Given the description of an element on the screen output the (x, y) to click on. 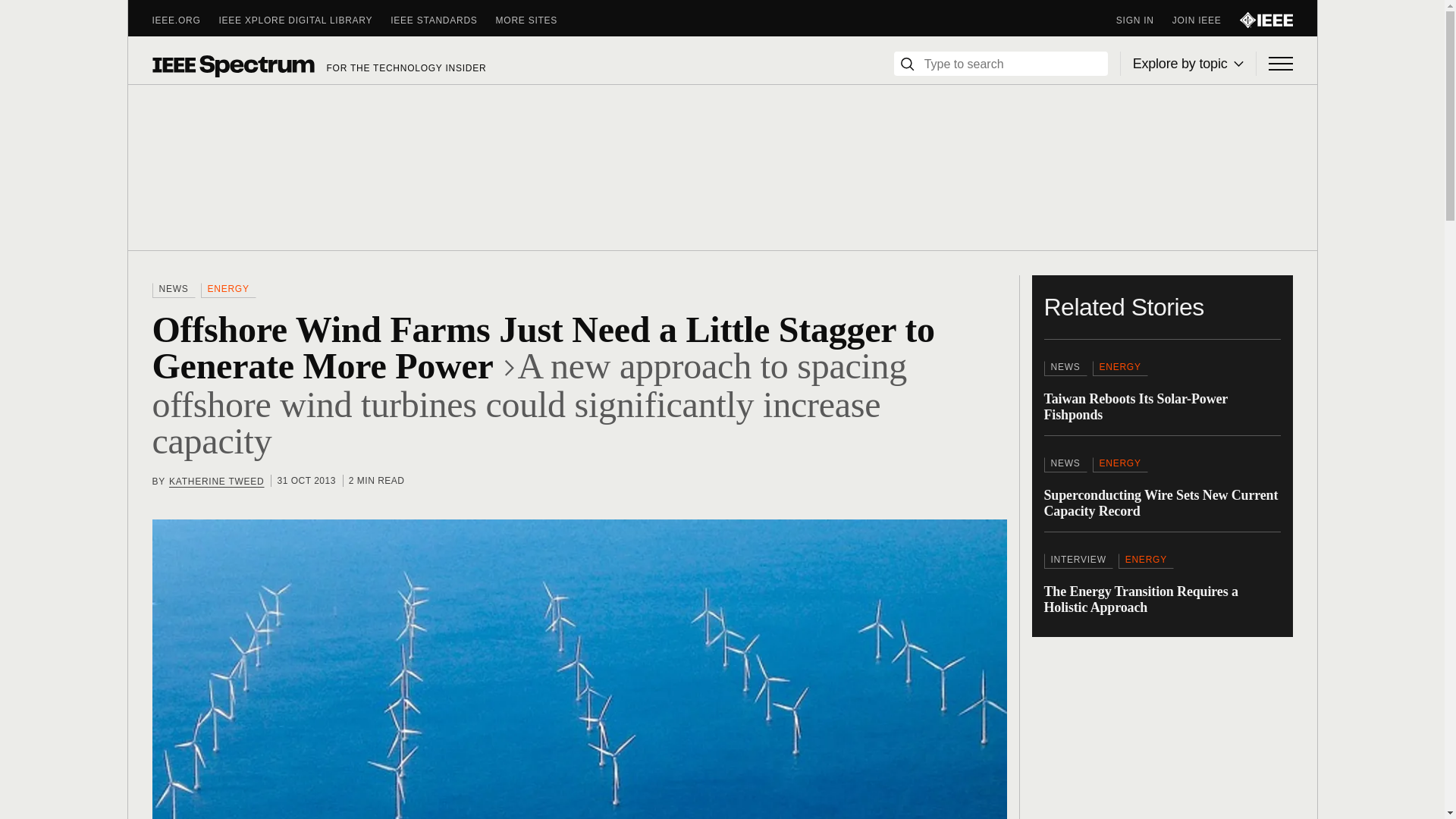
IEEE XPLORE DIGITAL LIBRARY (305, 20)
Spectrum Logo (232, 64)
IEEE.ORG (184, 20)
Search (907, 63)
MORE SITES (536, 20)
SIGN IN (1144, 20)
IEEE STANDARDS (442, 20)
JOIN IEEE (1206, 20)
